Given the description of an element on the screen output the (x, y) to click on. 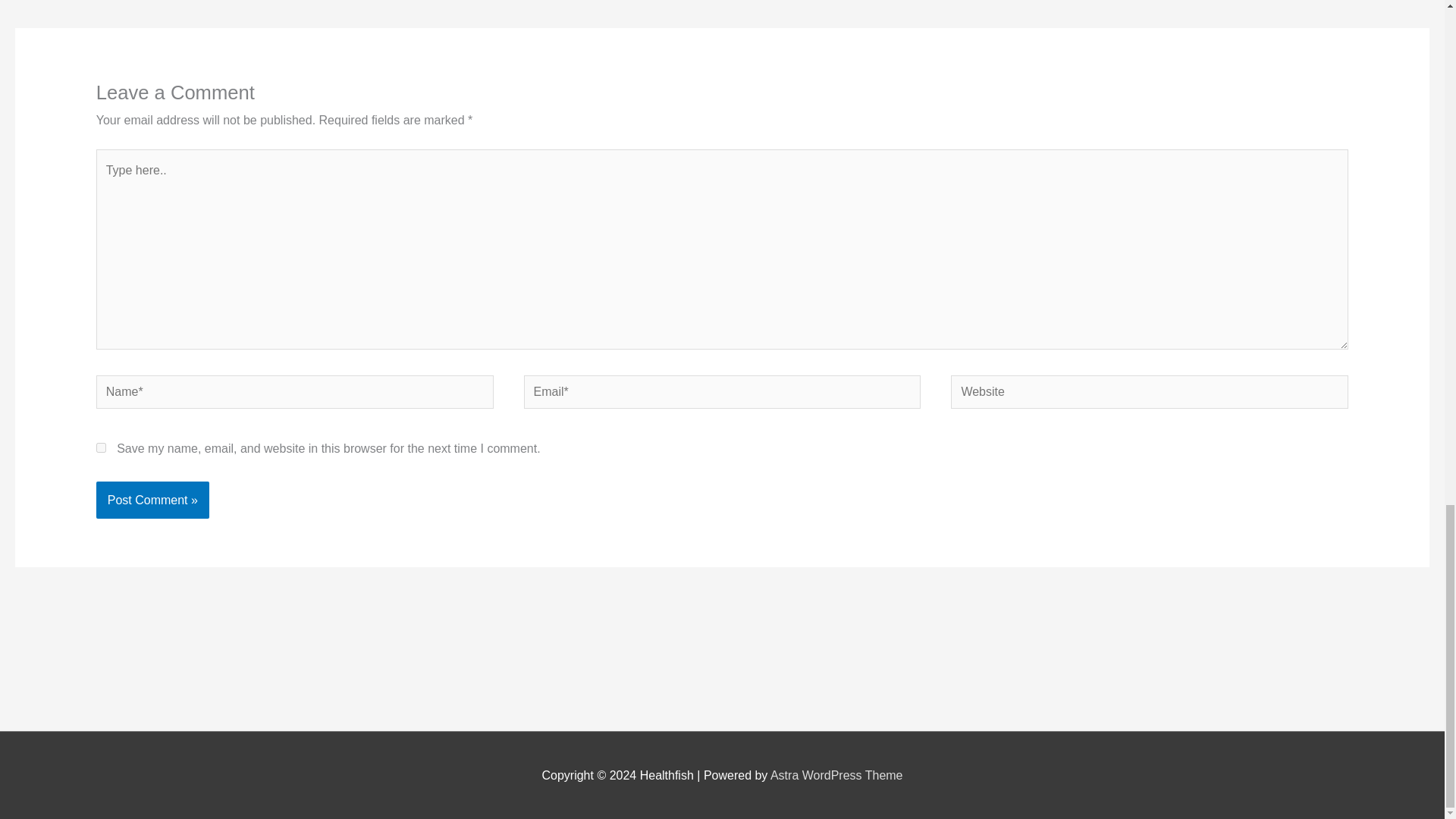
Astra WordPress Theme (836, 775)
yes (101, 447)
